Given the description of an element on the screen output the (x, y) to click on. 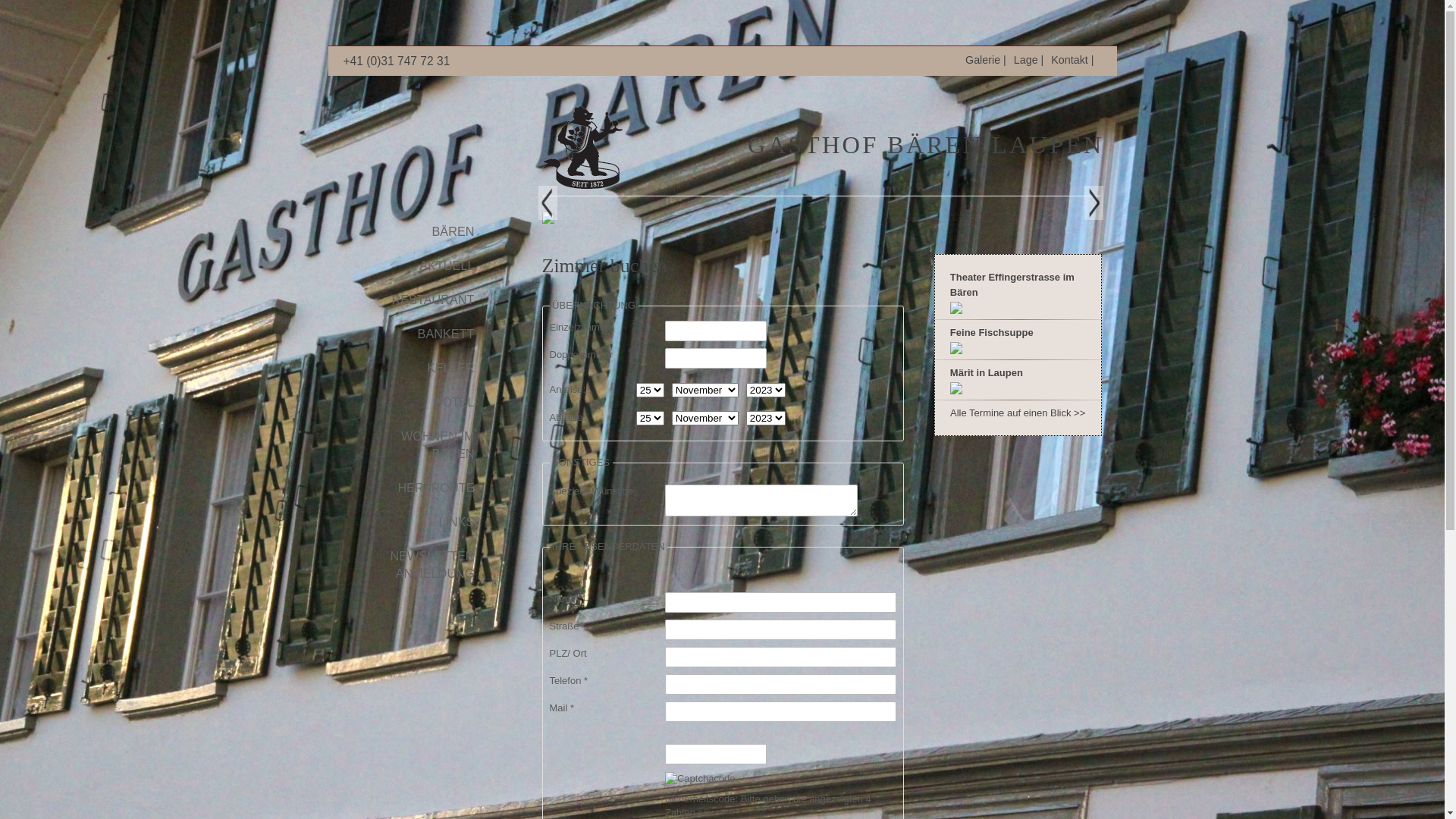
NEWSLETTER ANMELDUNG Element type: text (410, 567)
Alle Termine auf einen Blick >> Element type: text (1017, 412)
HOTEL Element type: text (410, 405)
Previous Element type: text (547, 202)
HERZROUTE Element type: text (410, 490)
Feine Fischsuppe Element type: text (991, 332)
RESTAURANT Element type: text (410, 302)
LINKS Element type: text (410, 524)
AKTUELL Element type: text (410, 268)
+41 (0)31 747 72 31 Element type: text (397, 60)
KELLER Element type: text (410, 370)
Feine Fischsuppe Element type: hover (956, 346)
Next Element type: text (1093, 202)
BANKETT Element type: text (410, 336)
